Given the description of an element on the screen output the (x, y) to click on. 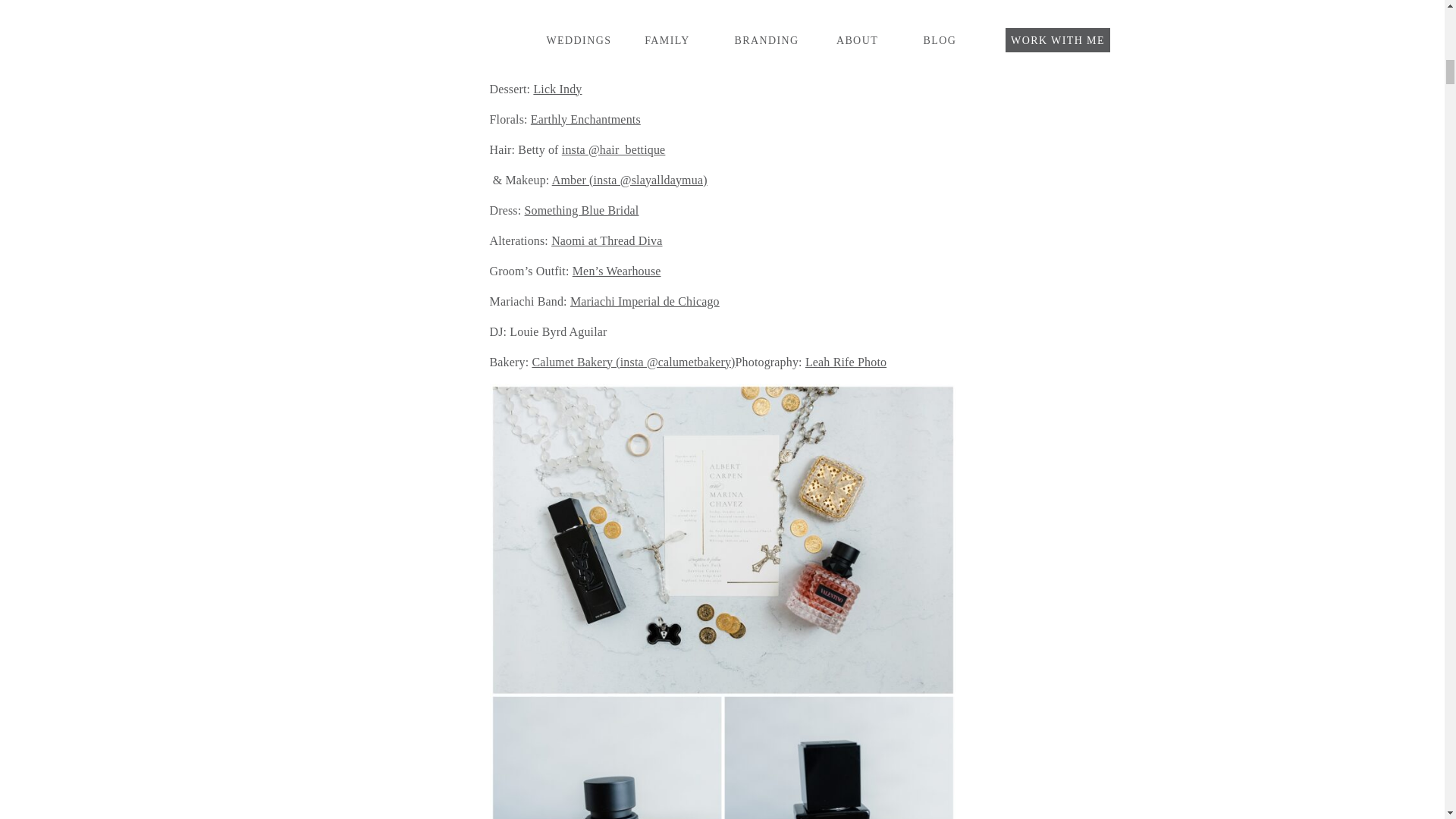
Lick Indy (556, 88)
Naomi at Thread Diva (606, 239)
Leah Rife Photo (845, 360)
Biltwell Event Center (681, 57)
Hoaglin Catering (581, 57)
Earthly Enchantments (585, 118)
Something Blue Bridal (581, 209)
Mariachi Imperial de Chicago (644, 300)
